Given the description of an element on the screen output the (x, y) to click on. 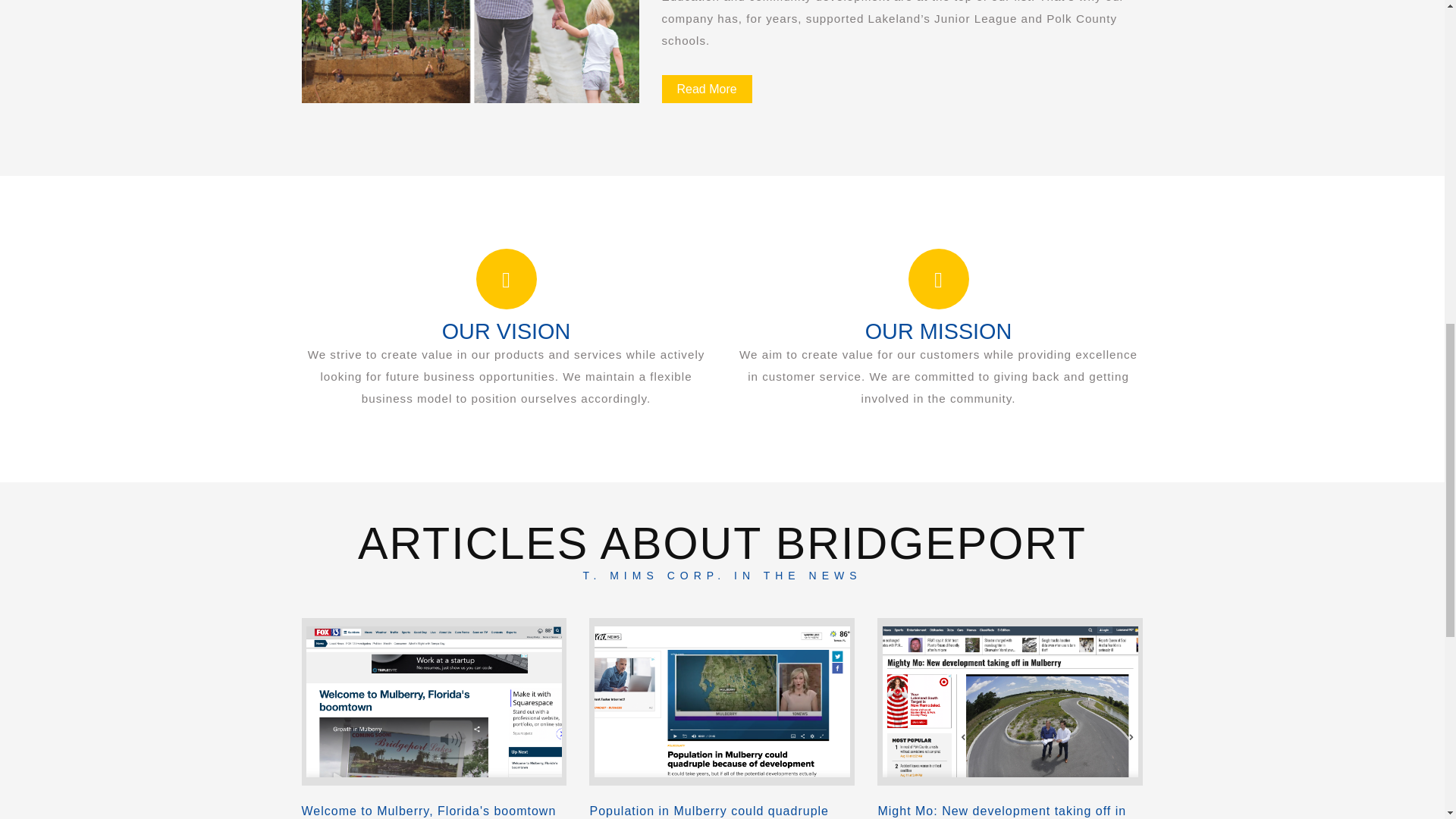
Might Mo: New development taking off in Mulberry (1009, 811)
Welcome to Mulberry, Florida's boomtown (434, 811)
Read More (706, 89)
